Given the description of an element on the screen output the (x, y) to click on. 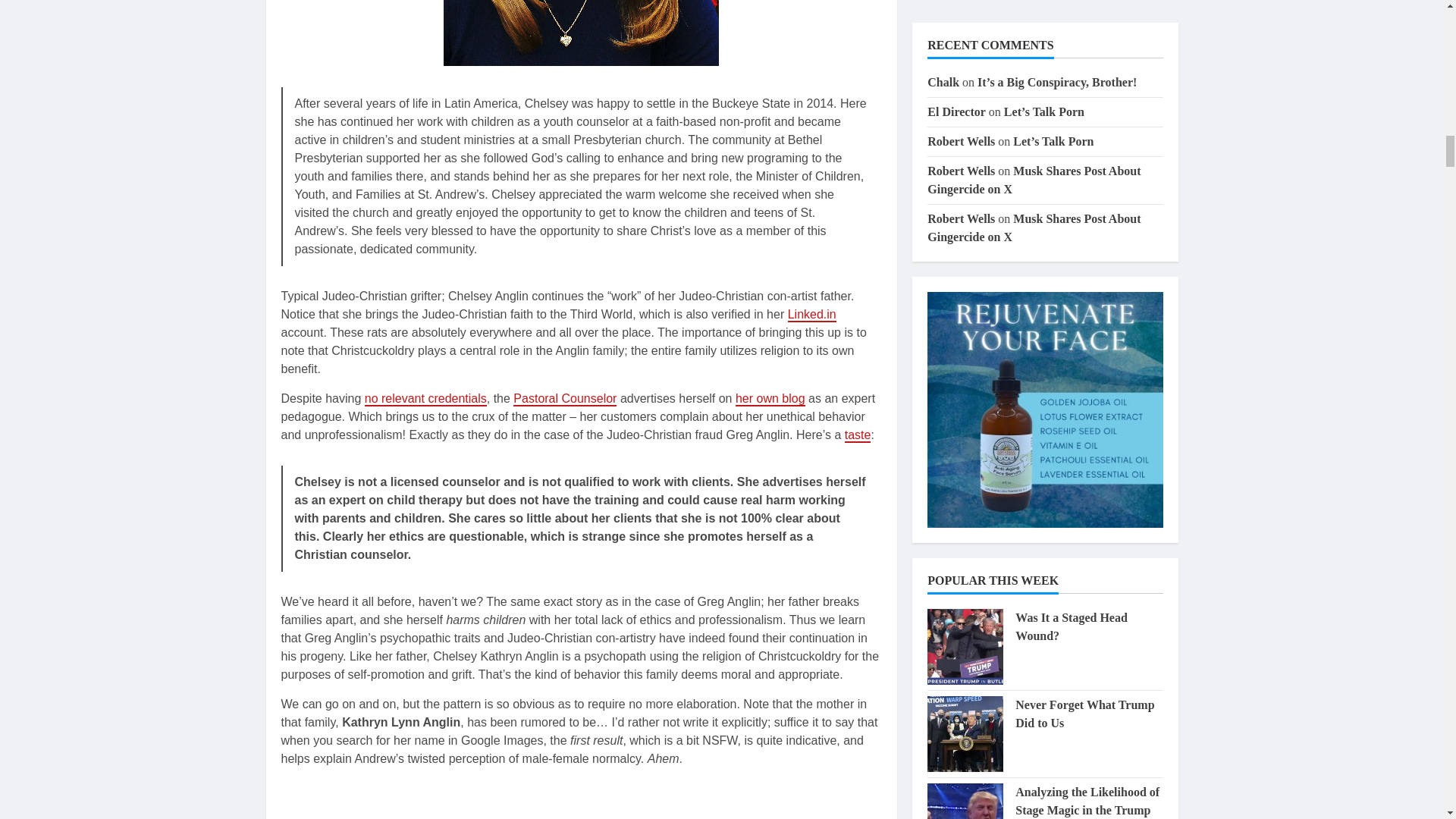
Linked.in (811, 314)
